Given the description of an element on the screen output the (x, y) to click on. 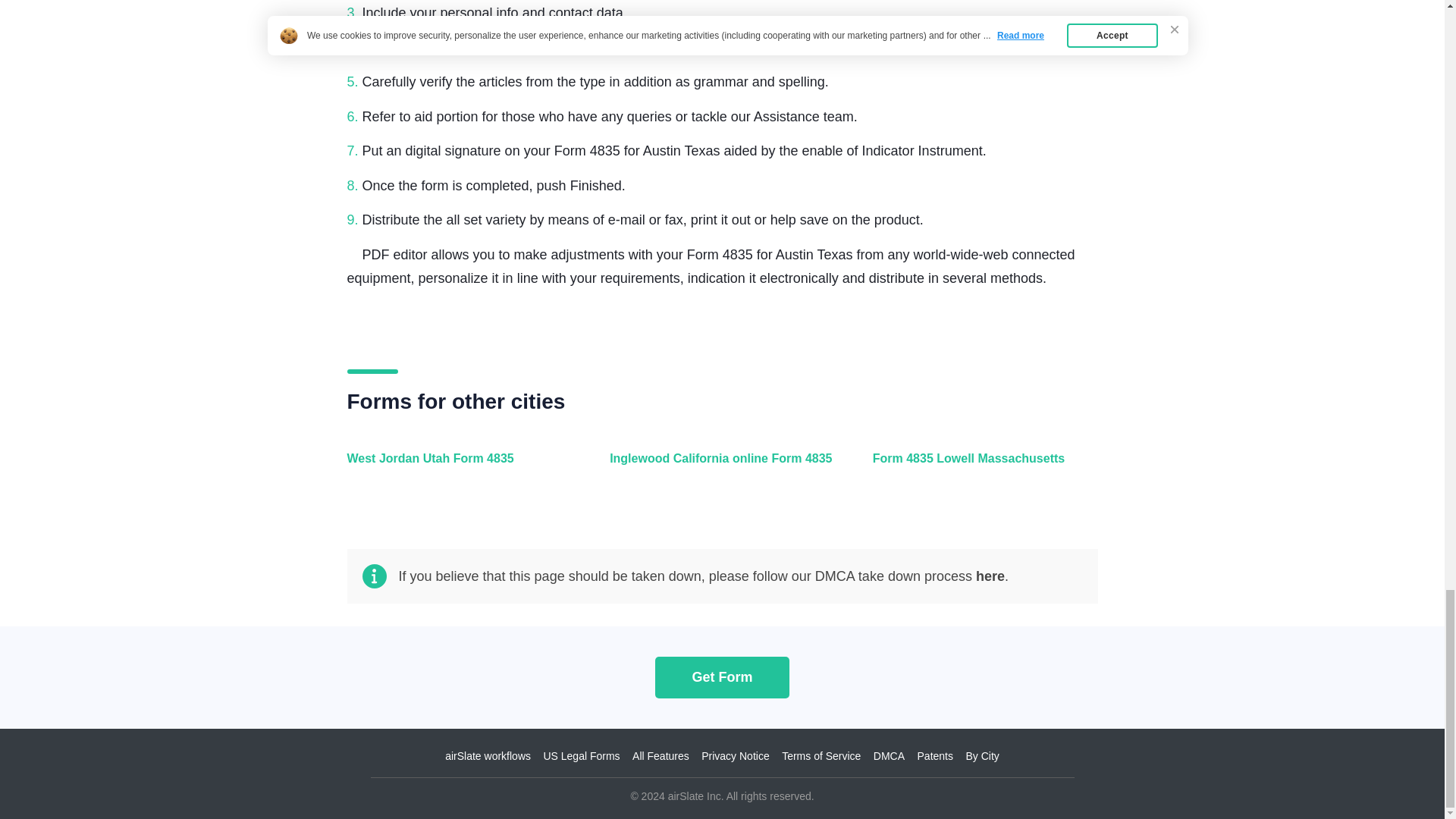
US Legal Forms (581, 756)
Form 4835 Lowell Massachusetts (981, 466)
All Features (659, 756)
By City (981, 756)
airSlate workflows (488, 756)
West Jordan Utah Form 4835 (456, 466)
Terms of Service (820, 756)
DMCA (888, 756)
Get Form (722, 676)
here (989, 575)
